Given the description of an element on the screen output the (x, y) to click on. 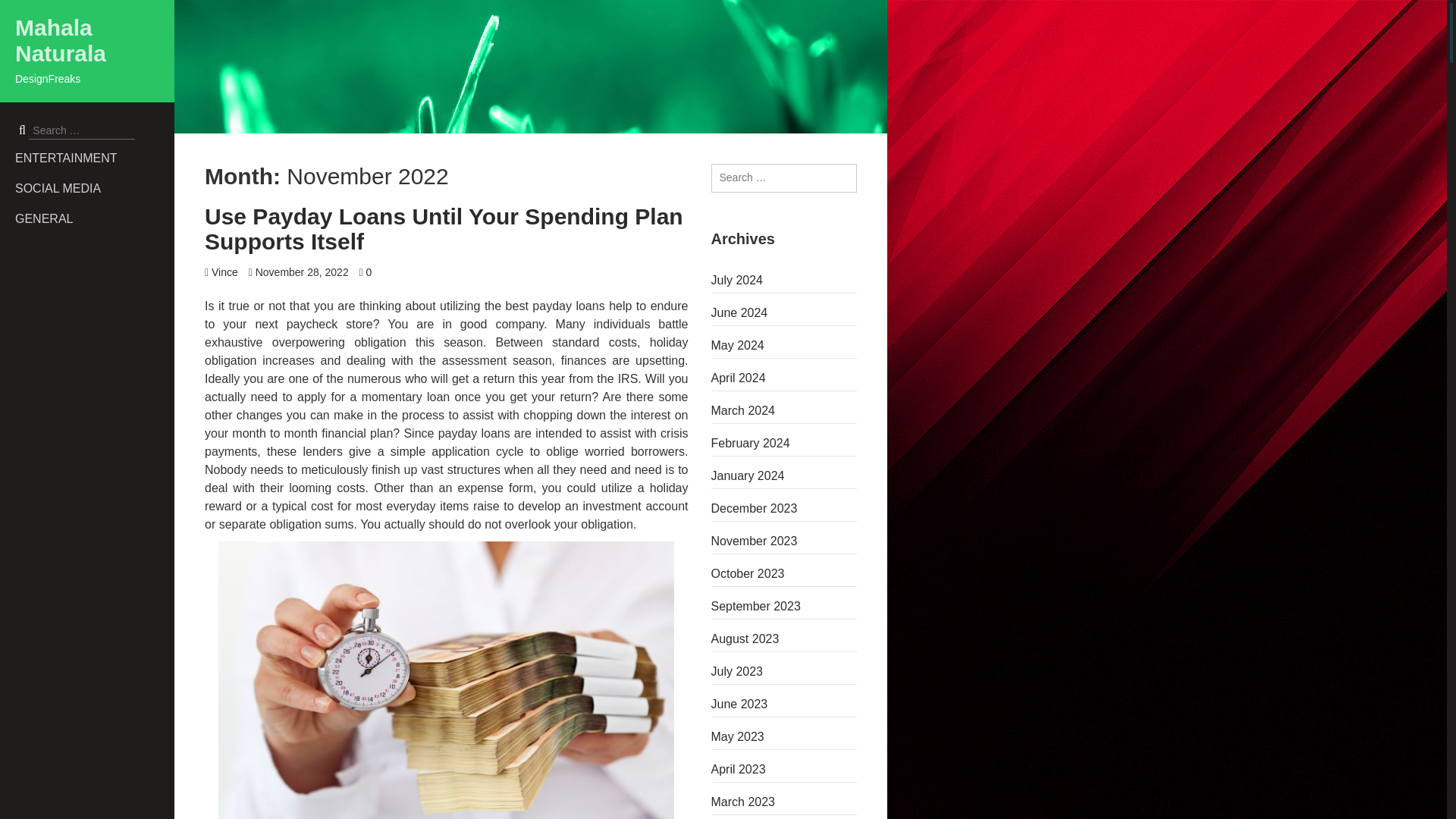
SOCIAL MEDIA (94, 188)
GENERAL (94, 218)
Posts by Vince (224, 272)
ENTERTAINMENT (94, 158)
Mahala Naturala (60, 40)
Search (24, 11)
Vince (224, 272)
Use Payday Loans Until Your Spending Plan Supports Itself (443, 228)
